Given the description of an element on the screen output the (x, y) to click on. 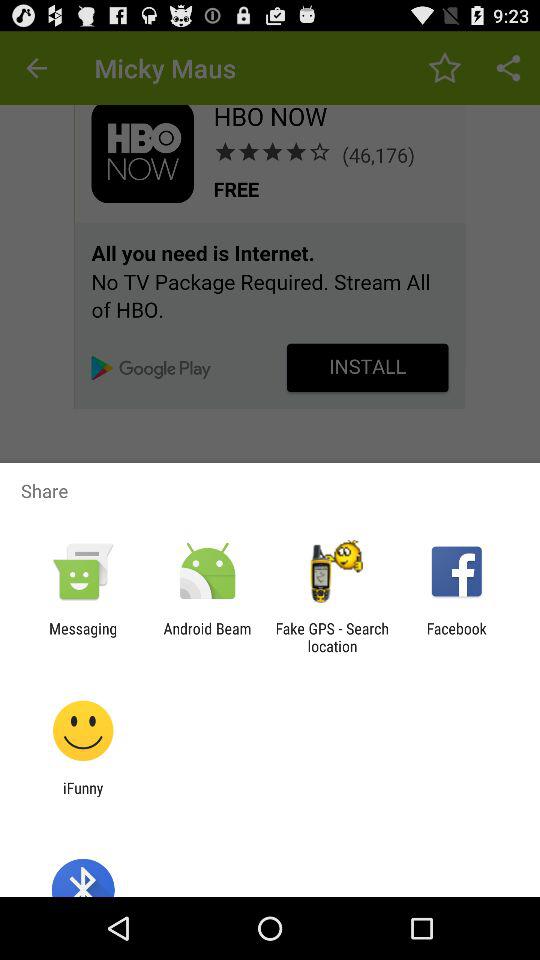
choose app next to the android beam (332, 637)
